Given the description of an element on the screen output the (x, y) to click on. 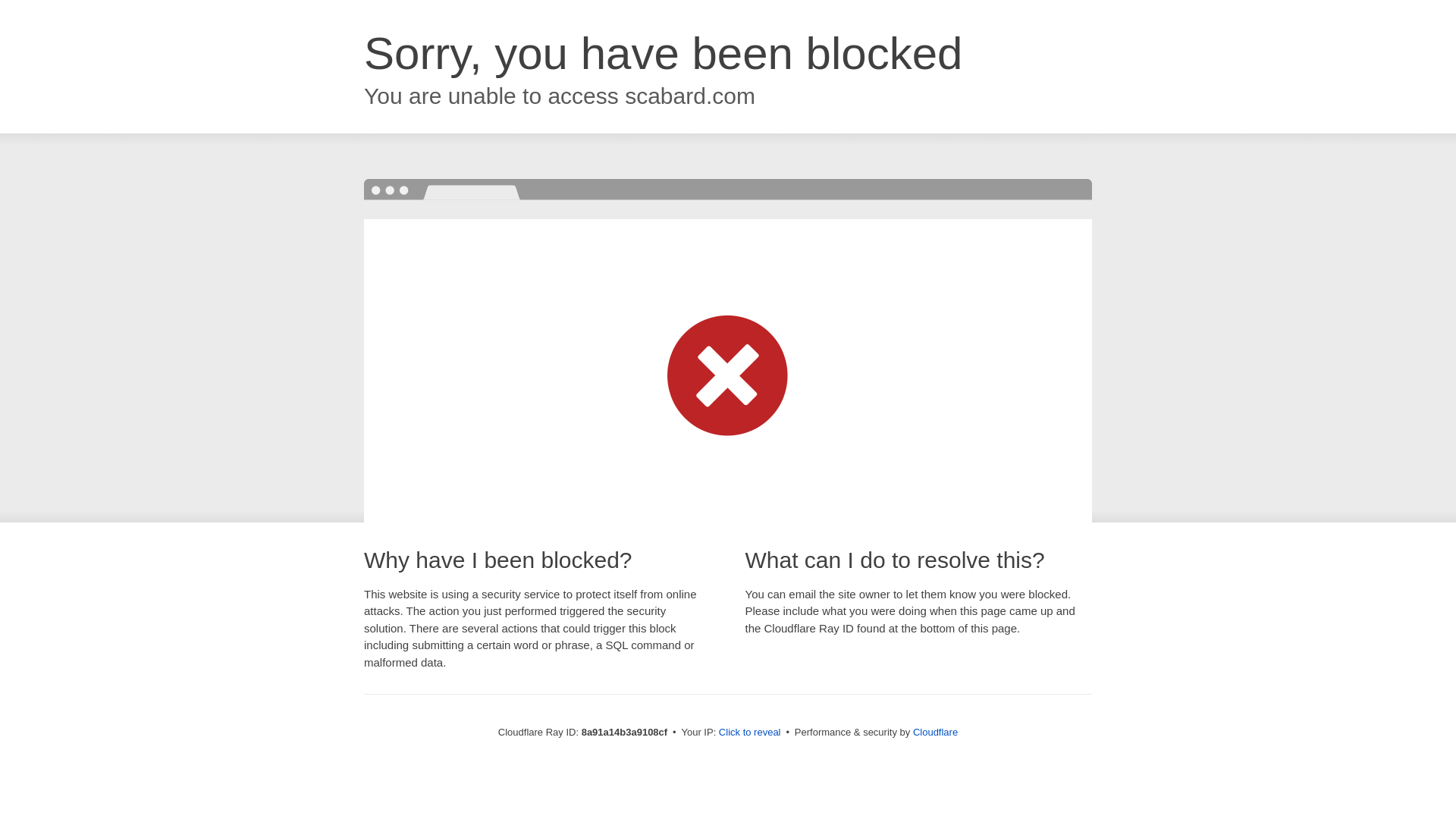
Cloudflare (935, 731)
Click to reveal (749, 732)
